Given the description of an element on the screen output the (x, y) to click on. 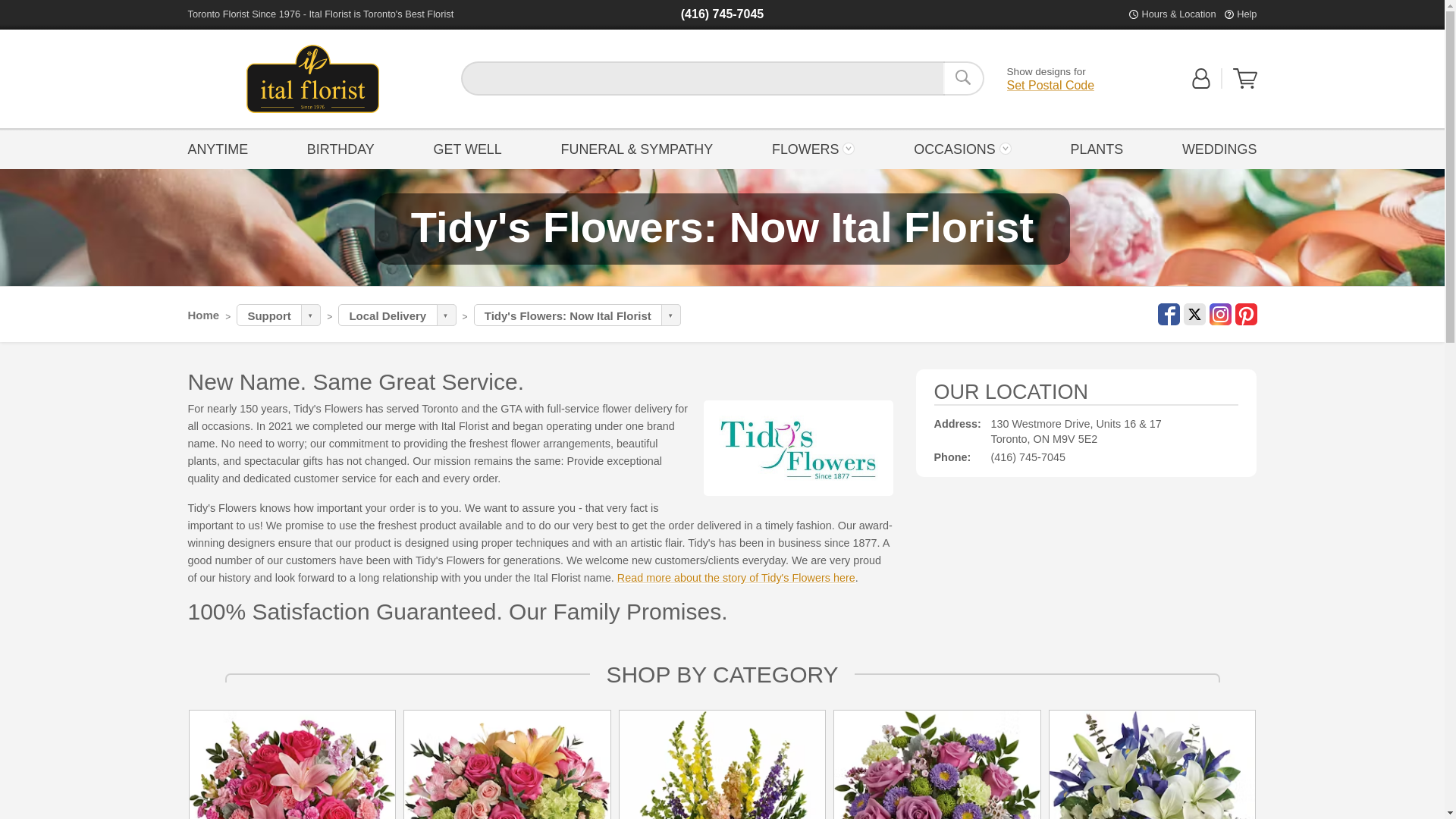
FLOWERS (812, 147)
Search (963, 78)
ANYTIME (222, 147)
User Account (1200, 85)
Help (1246, 13)
Shopping Cart (1245, 85)
Set Postal Code (1050, 85)
GET WELL (468, 147)
OCCASIONS (962, 147)
Shopping Cart (1245, 78)
